Given the description of an element on the screen output the (x, y) to click on. 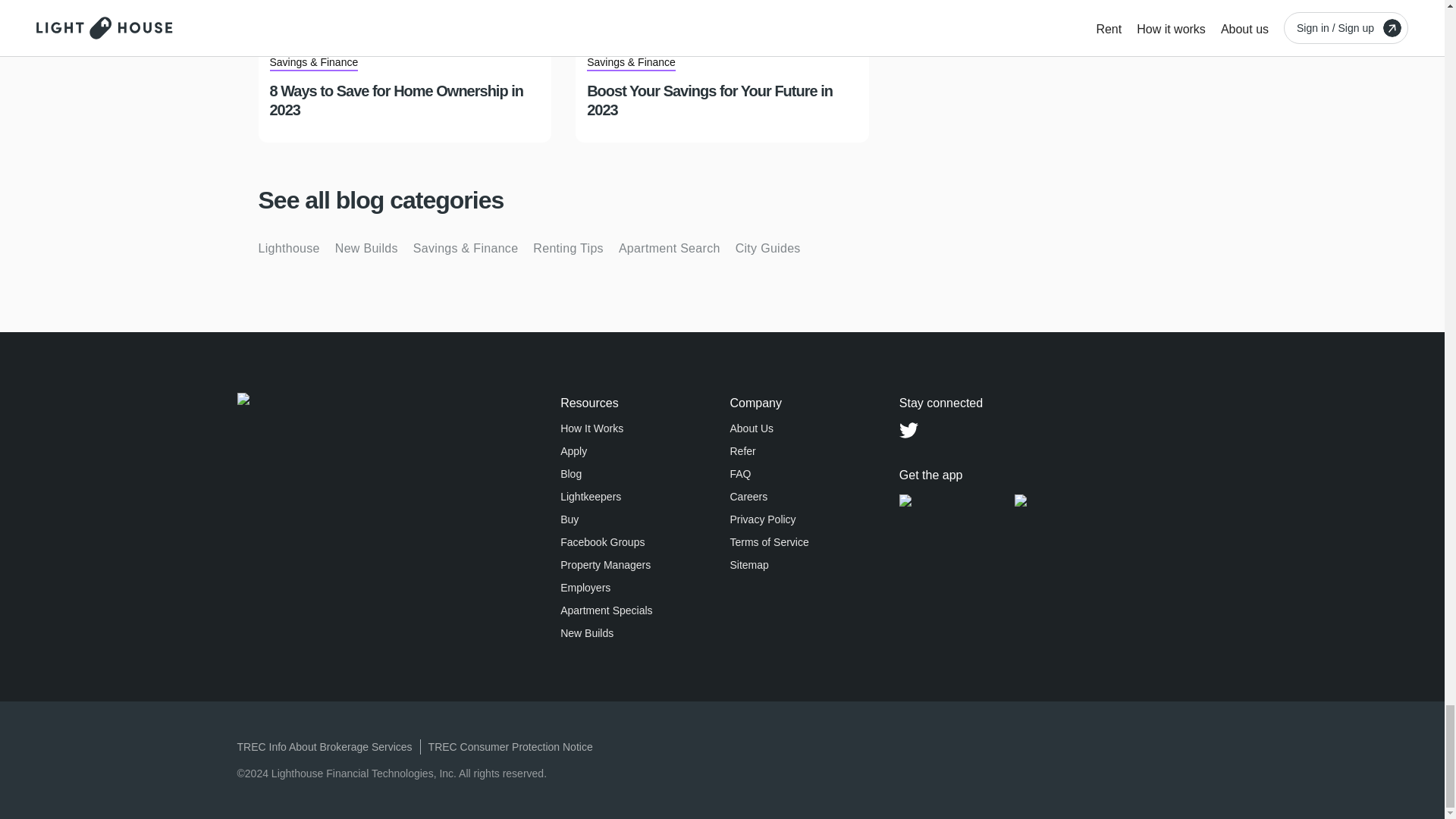
Lighthouse Android App (1081, 500)
Lighthouse LinkedIn (942, 429)
Lighthouse iOS App (956, 500)
Lighthouse Instagram (1007, 429)
Lighthouse Facebook (975, 429)
Lighthouse Twitter (908, 429)
